Given the description of an element on the screen output the (x, y) to click on. 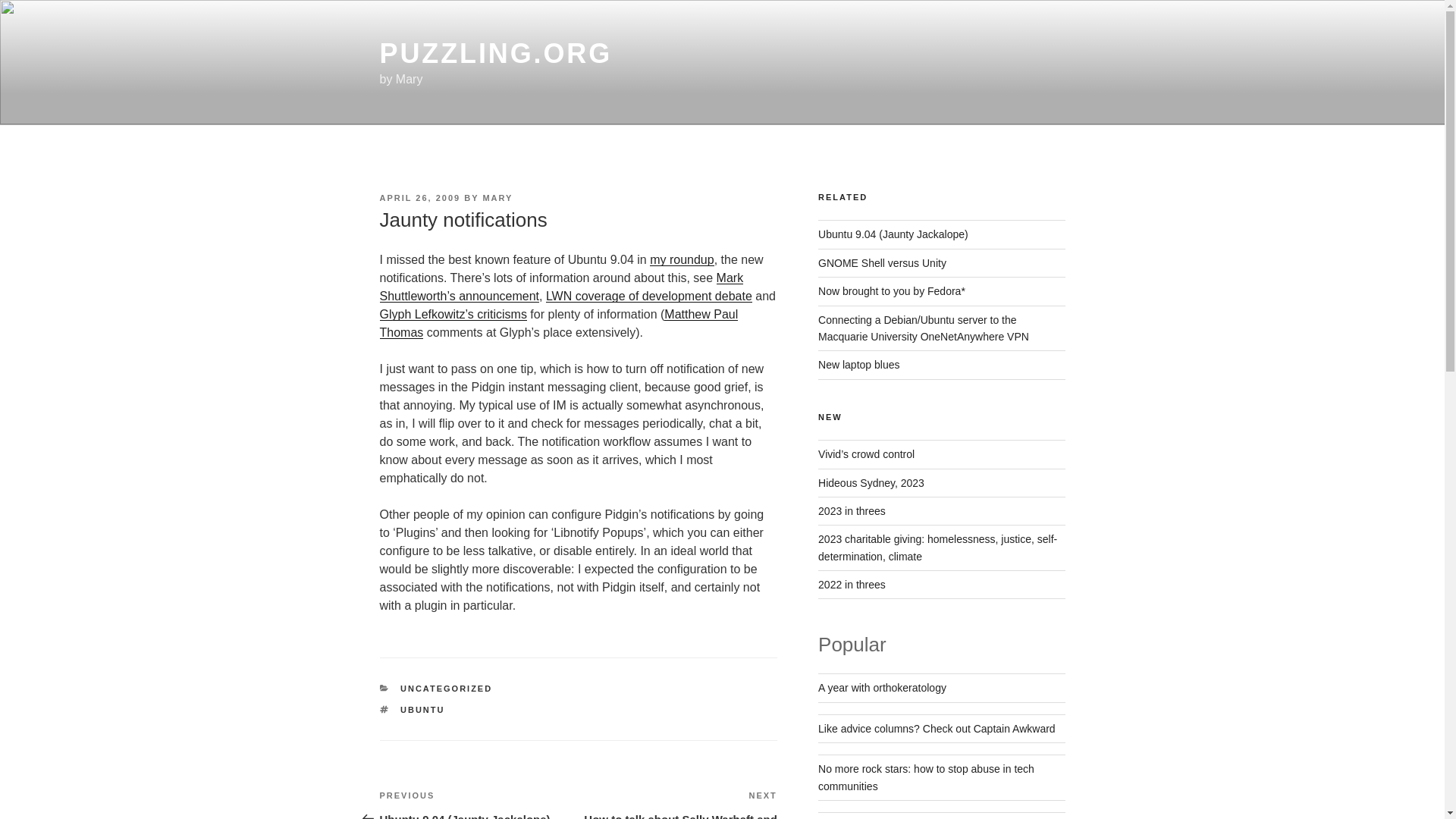
Like advice columns? Check out Captain Awkward (936, 728)
GNOME Shell versus Unity (882, 263)
MARY (496, 197)
PUZZLING.ORG (494, 52)
my roundup (681, 259)
New laptop blues (858, 364)
Matthew Paul Thomas (558, 323)
GNOME Shell versus Unity (882, 263)
New laptop blues (858, 364)
APRIL 26, 2009 (419, 197)
2022 in threes (851, 584)
No more rock stars: how to stop abuse in tech communities (925, 776)
Hideous Sydney, 2023 (871, 482)
